Given the description of an element on the screen output the (x, y) to click on. 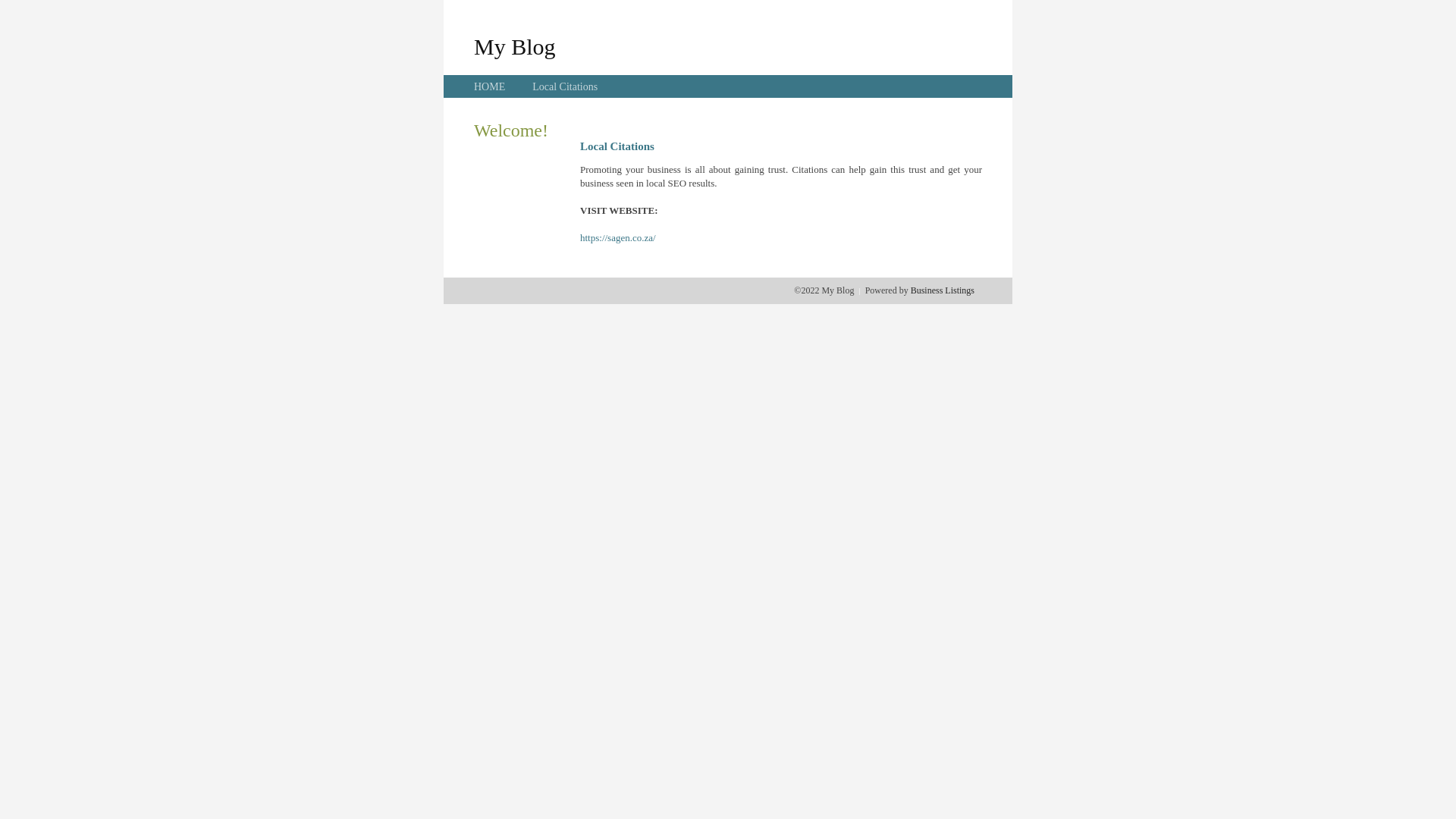
Local Citations Element type: text (564, 86)
https://sagen.co.za/ Element type: text (617, 237)
Business Listings Element type: text (942, 290)
My Blog Element type: text (514, 46)
HOME Element type: text (489, 86)
